Given the description of an element on the screen output the (x, y) to click on. 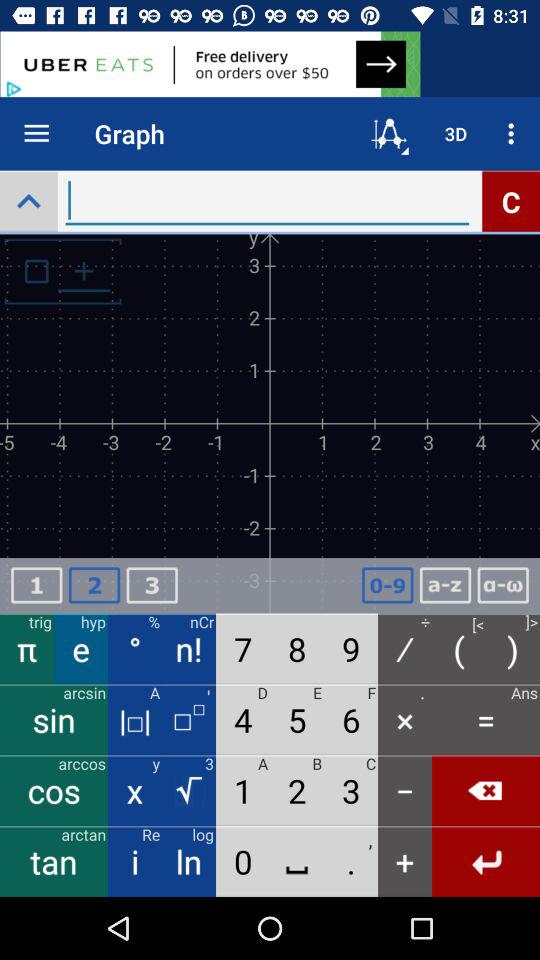
typing option (267, 200)
